Given the description of an element on the screen output the (x, y) to click on. 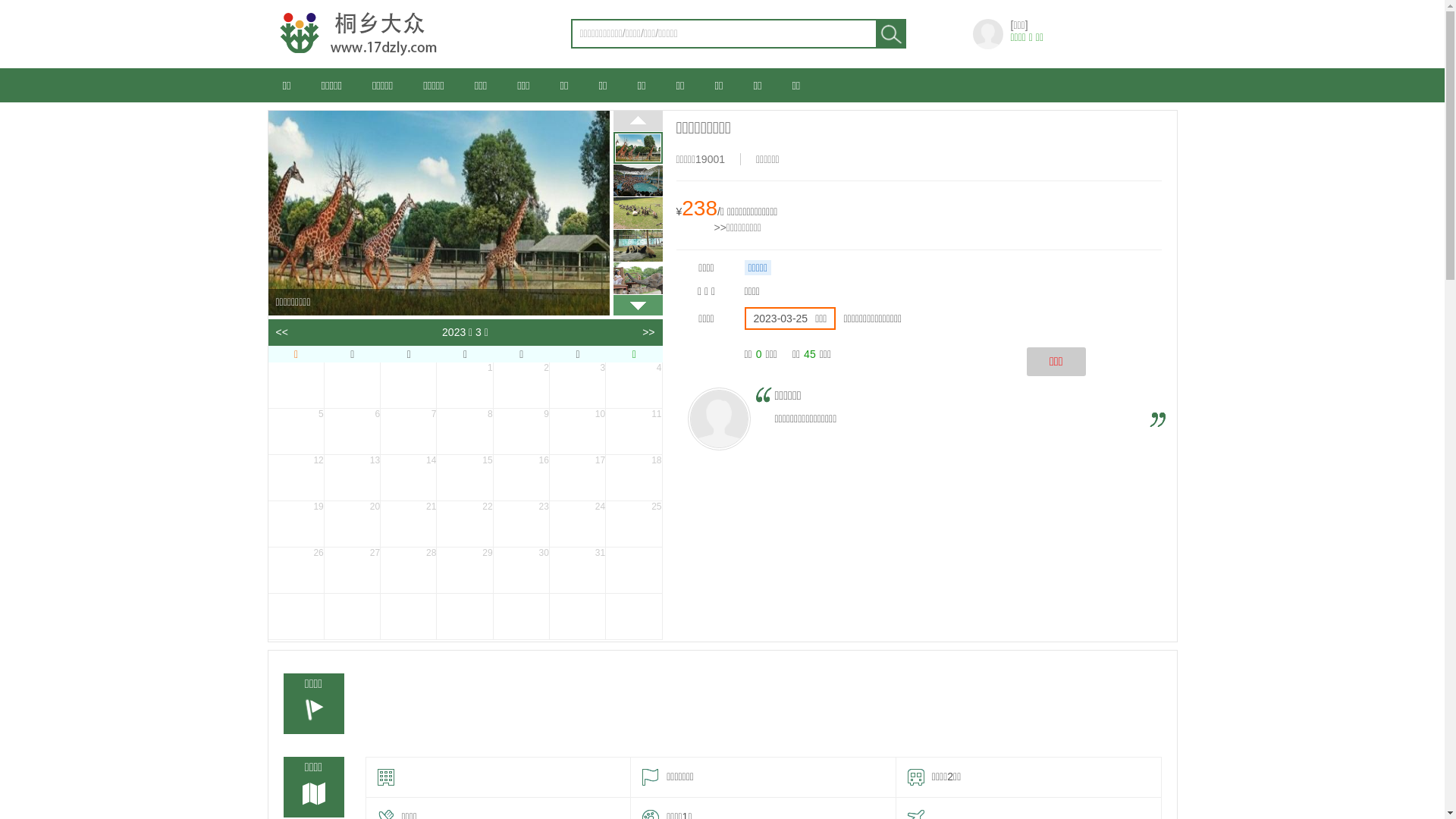
24 Element type: text (577, 523)
11 Element type: text (633, 431)
25 Element type: text (633, 523)
<< Element type: text (281, 332)
28 Element type: text (408, 570)
30 Element type: text (521, 570)
26 Element type: text (295, 570)
13 Element type: text (351, 477)
10 Element type: text (577, 431)
23 Element type: text (521, 523)
1 Element type: text (464, 384)
12 Element type: text (295, 477)
22 Element type: text (464, 523)
16 Element type: text (521, 477)
14 Element type: text (408, 477)
29 Element type: text (464, 570)
18 Element type: text (633, 477)
4 Element type: text (633, 384)
15 Element type: text (464, 477)
7 Element type: text (408, 431)
27 Element type: text (351, 570)
21 Element type: text (408, 523)
3 Element type: text (577, 384)
17 Element type: text (577, 477)
5 Element type: text (295, 431)
31 Element type: text (577, 570)
19 Element type: text (295, 523)
9 Element type: text (521, 431)
20 Element type: text (351, 523)
2 Element type: text (521, 384)
6 Element type: text (351, 431)
8 Element type: text (464, 431)
>> Element type: text (648, 332)
